Given the description of an element on the screen output the (x, y) to click on. 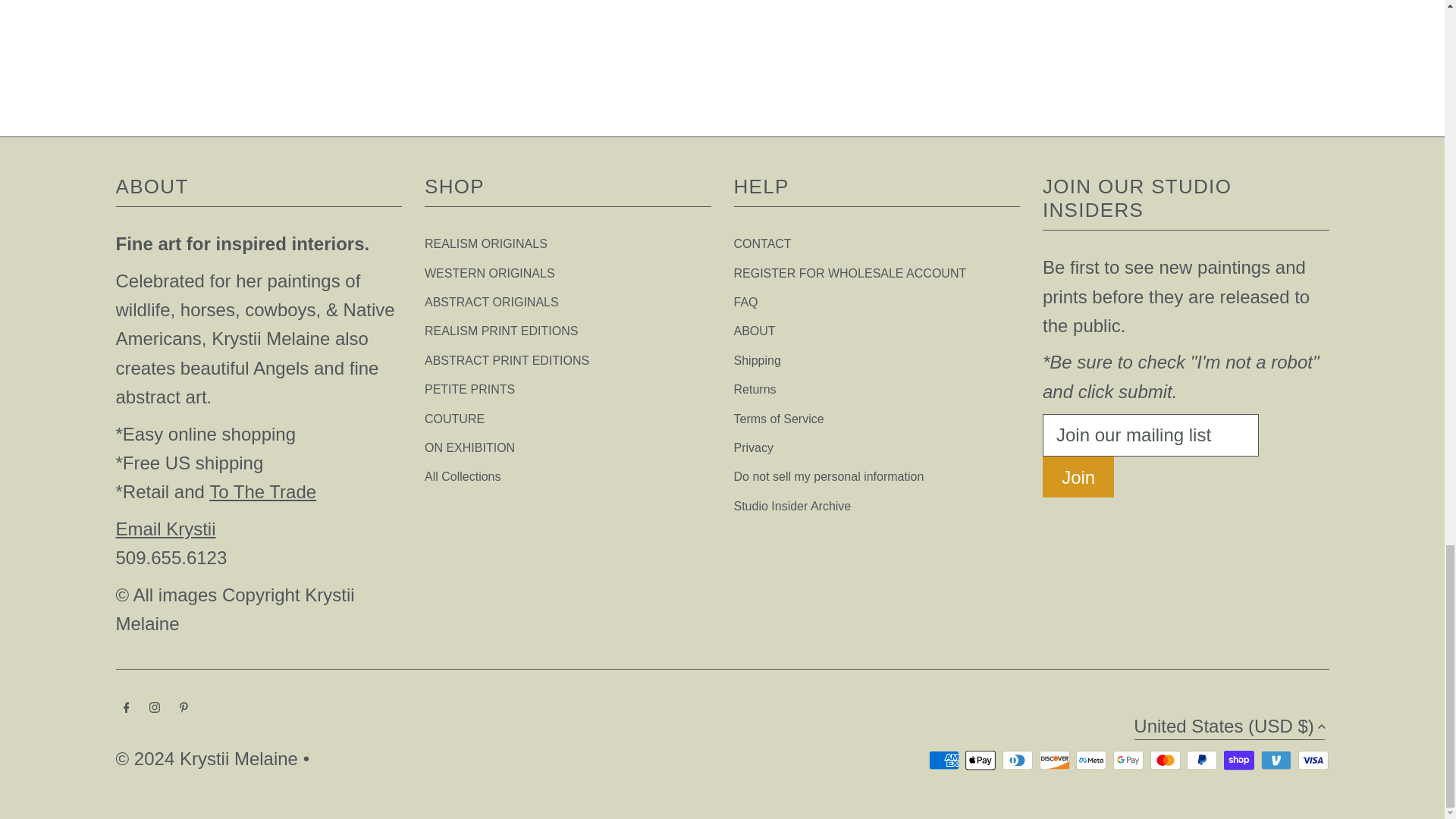
American Express (943, 760)
Google Pay (1127, 760)
Join (1077, 476)
Mastercard (1165, 760)
Shop Pay (1238, 760)
Apple Pay (980, 760)
PayPal (1201, 760)
Meta Pay (1090, 760)
Diners Club (1017, 760)
Discover (1054, 760)
